Given the description of an element on the screen output the (x, y) to click on. 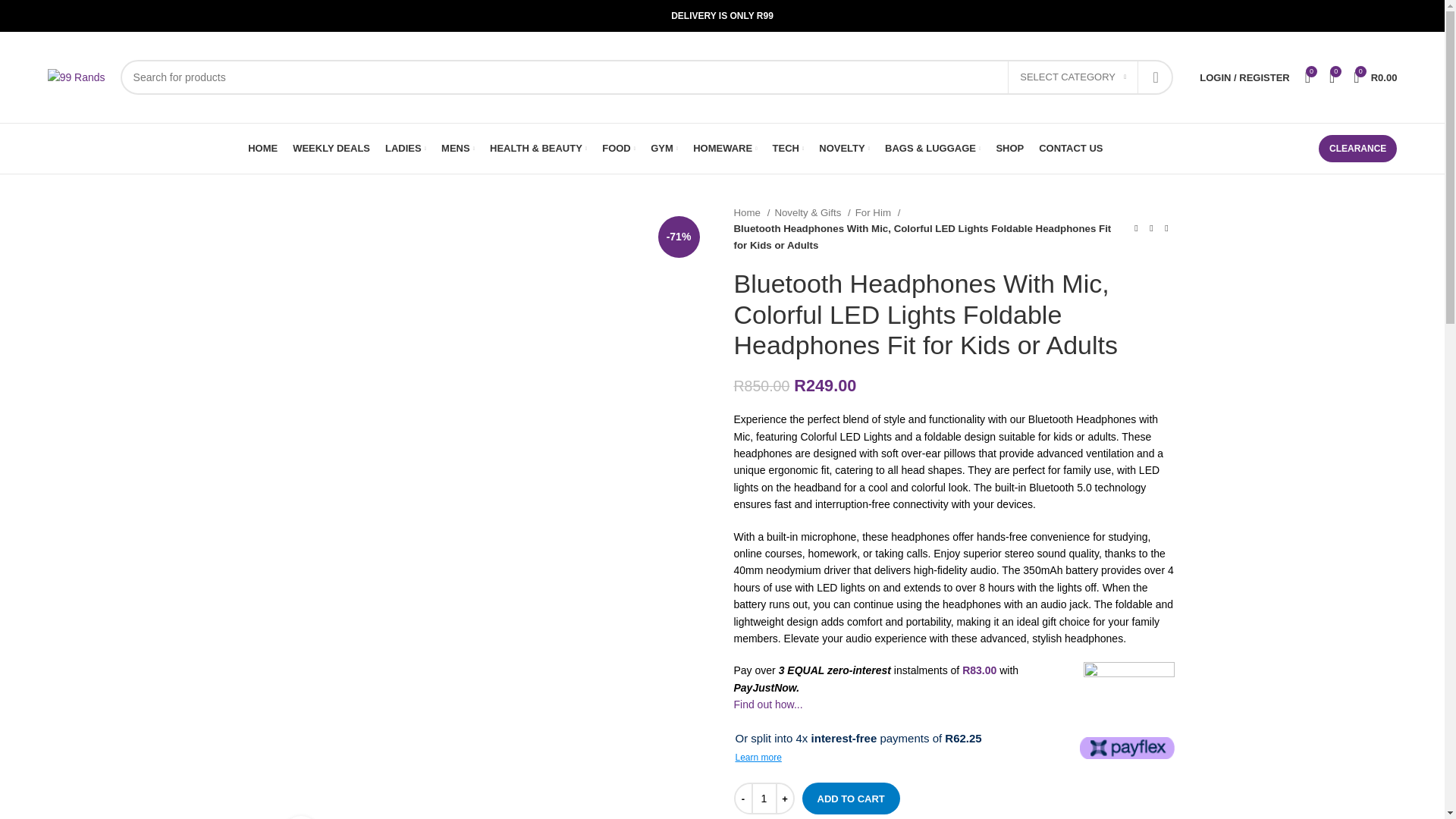
SELECT CATEGORY (1072, 77)
1 (763, 798)
SELECT CATEGORY (1072, 77)
My account (1244, 77)
- (742, 798)
My Wishlist (1307, 77)
Compare products (1332, 77)
Search for products (646, 77)
Shopping cart (1375, 77)
